Given the description of an element on the screen output the (x, y) to click on. 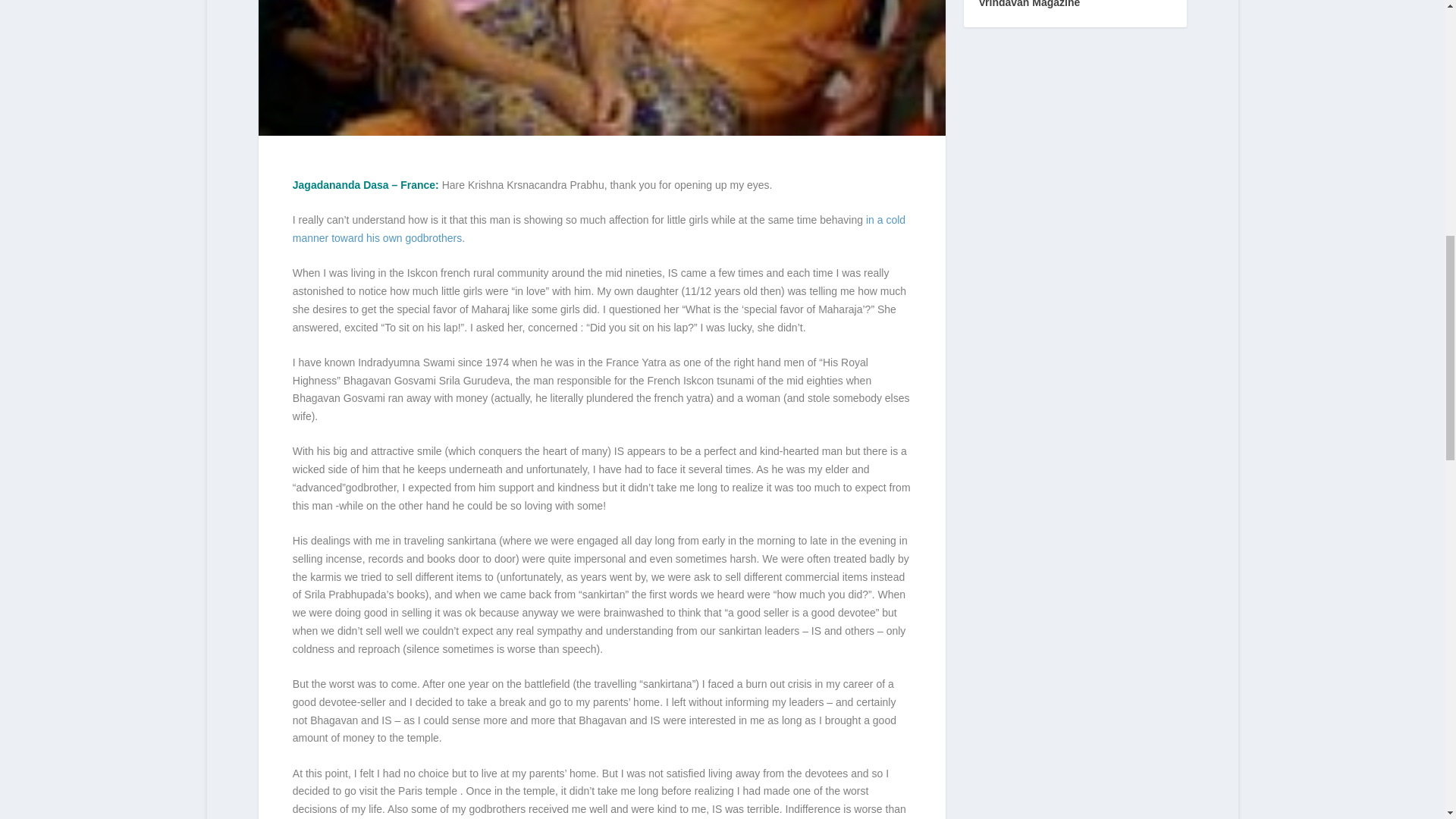
in a cold manner toward his own godbrothers (598, 228)
